Given the description of an element on the screen output the (x, y) to click on. 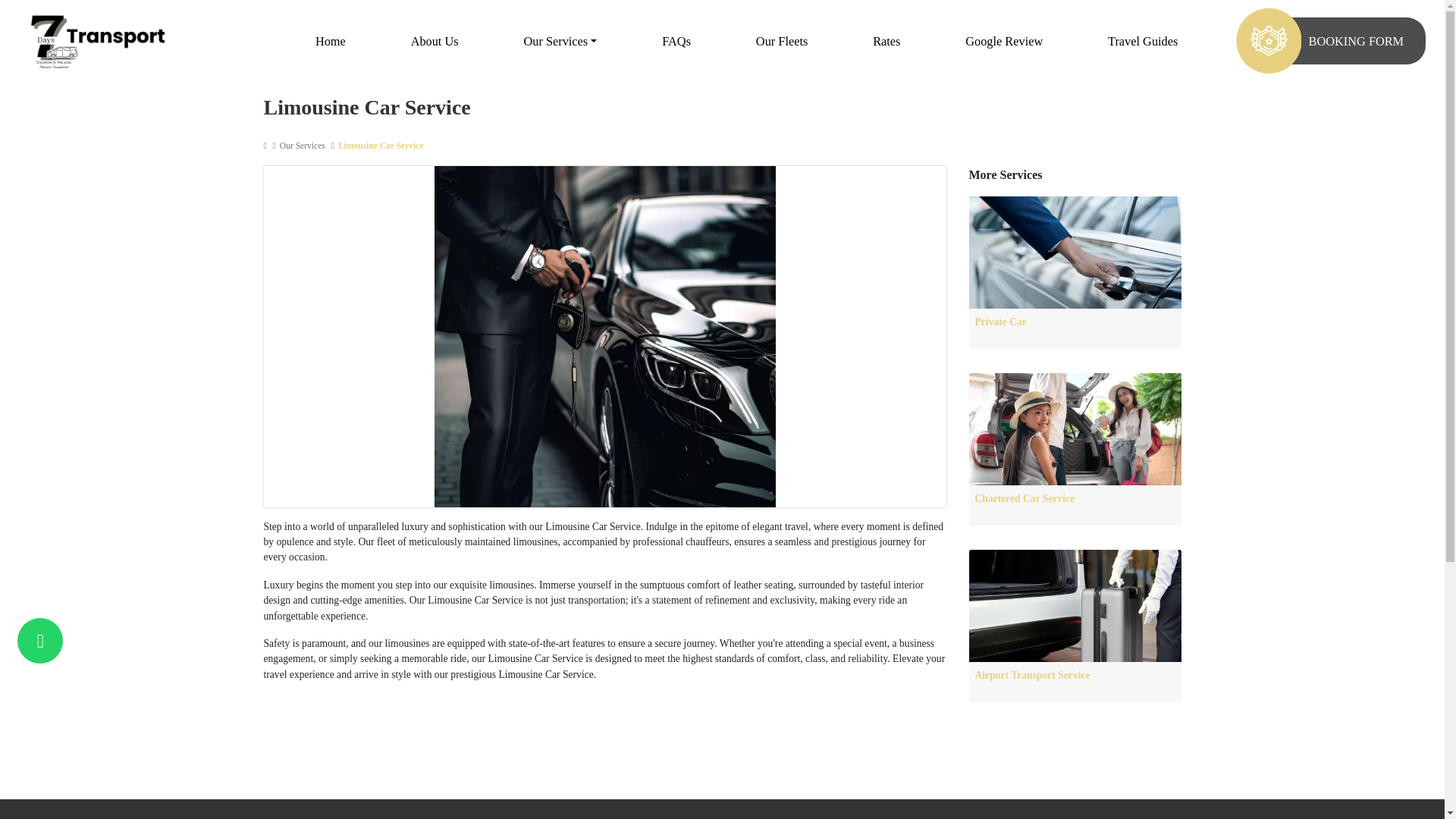
Our Fleets (781, 40)
Travel Guides (1142, 40)
BOOKING FORM (1356, 40)
Our Services (559, 40)
About Us (434, 40)
About Us (434, 40)
Our Services (559, 40)
Booking Form (1356, 40)
7 Days Transport (97, 41)
Google Review (1003, 40)
Travel Guides (1142, 40)
Our Fleets (781, 40)
Google Review (1003, 40)
